Given the description of an element on the screen output the (x, y) to click on. 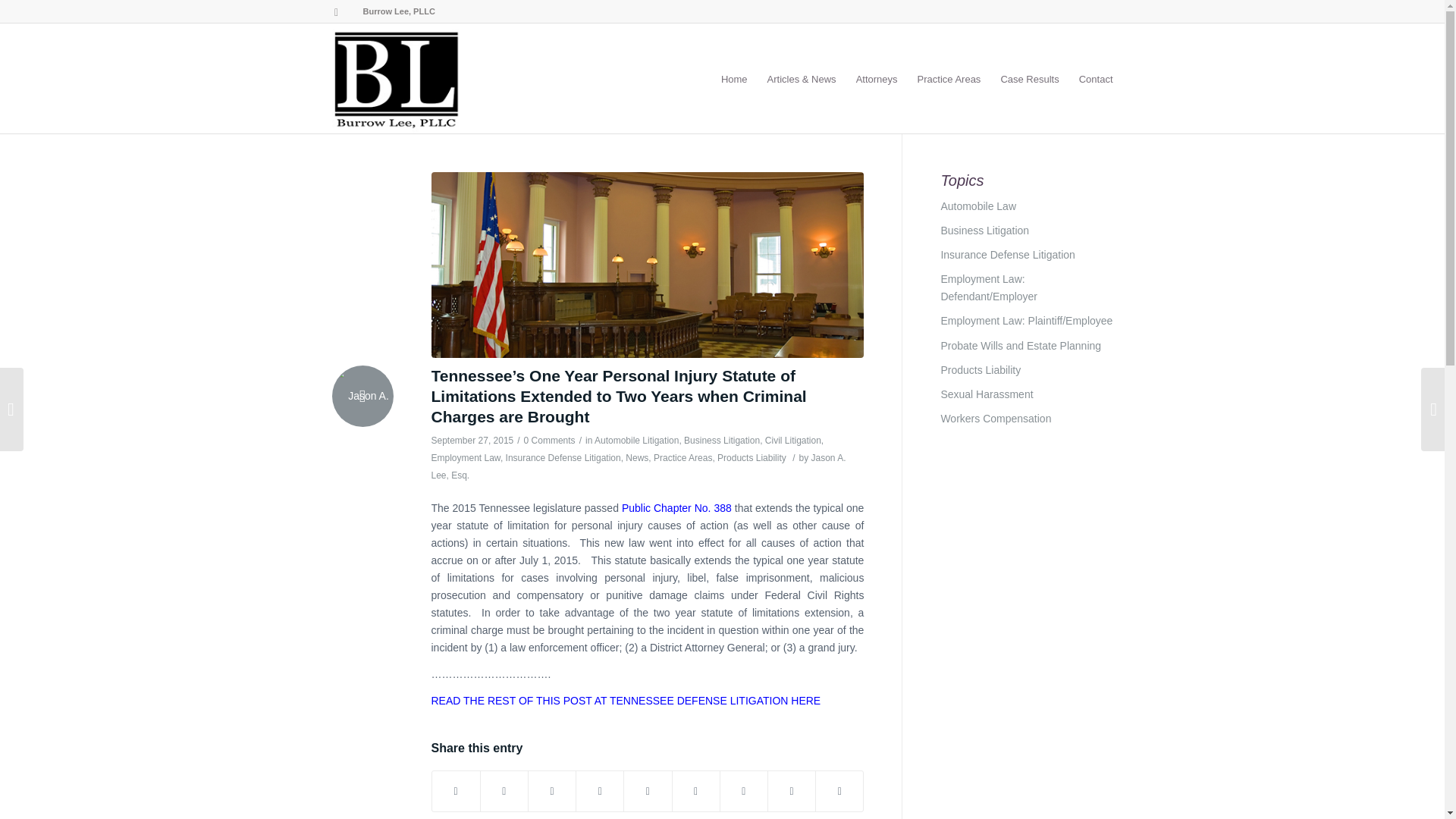
Case Results (1029, 79)
Posts by Jason A. Lee, Esq. (637, 466)
Practice Areas (949, 79)
Attorneys (876, 79)
Rss (335, 11)
